Given the description of an element on the screen output the (x, y) to click on. 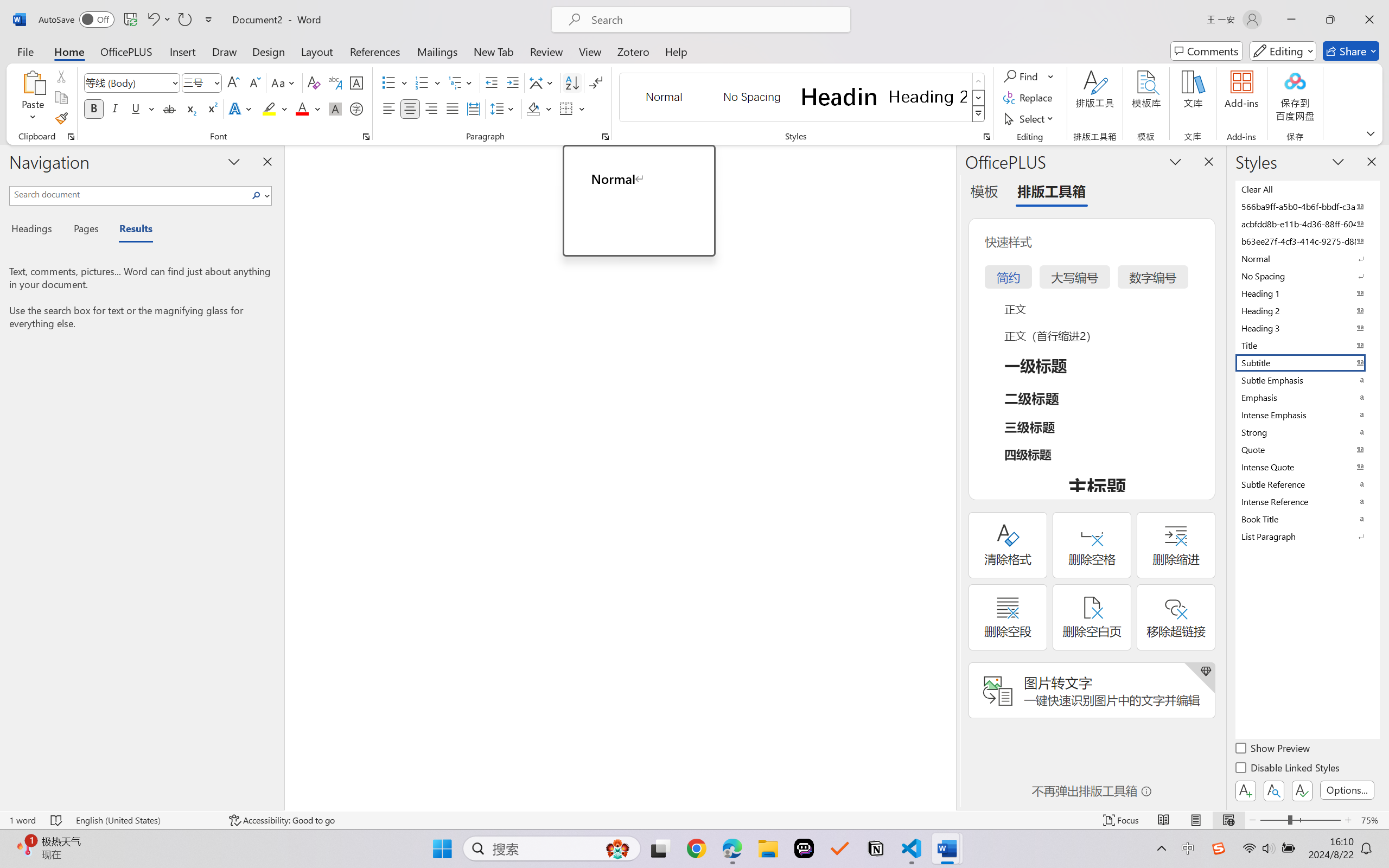
Customize Quick Access Toolbar (208, 19)
Class: NetUIScrollBar (948, 477)
New Tab (493, 51)
Show Preview (1273, 749)
Undo Style (152, 19)
Character Border (356, 82)
Sort... (571, 82)
Microsoft search (715, 19)
